Given the description of an element on the screen output the (x, y) to click on. 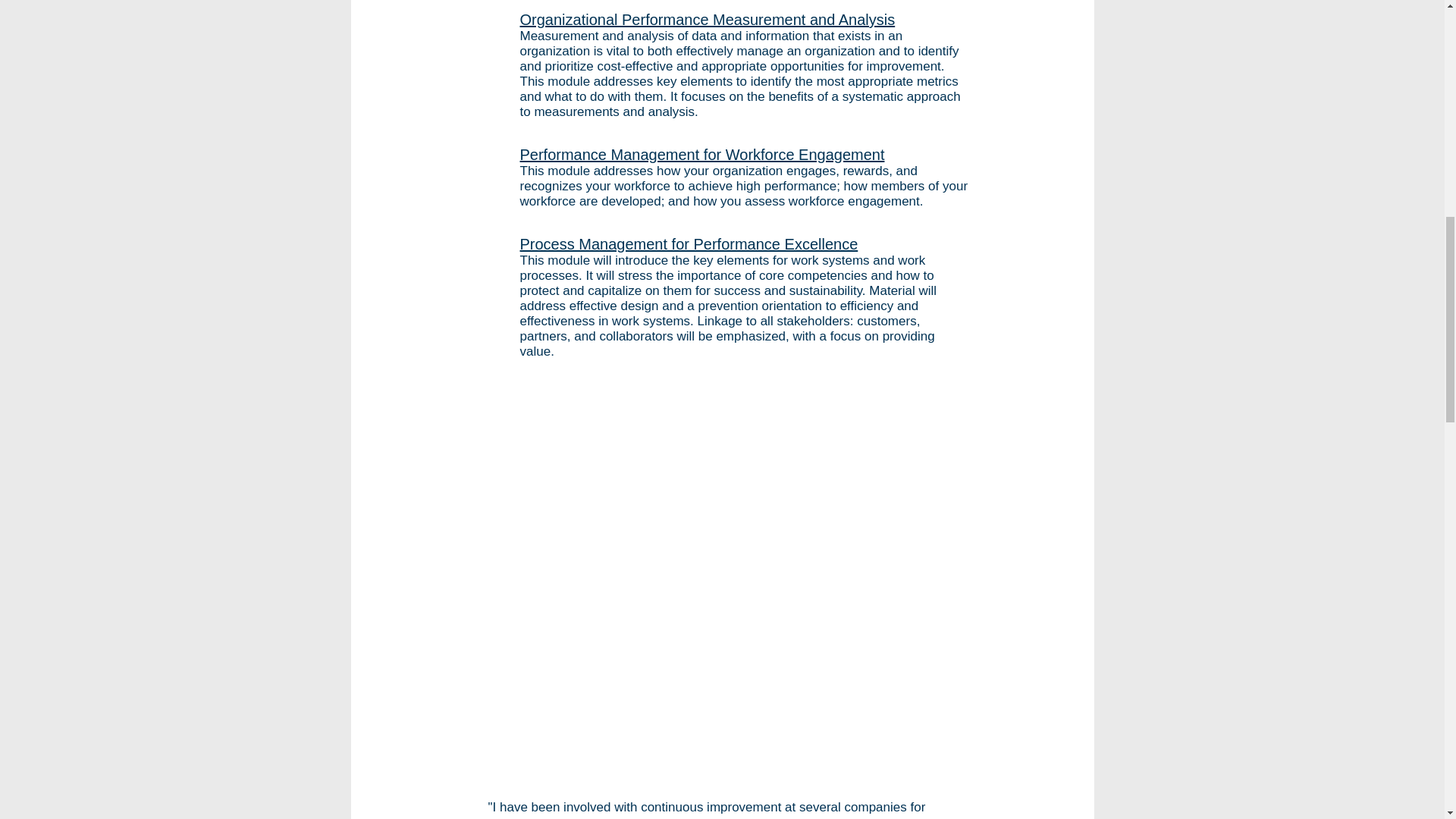
Organizational Performance Measurement and Analysis (707, 19)
Process Management for Performance Excellence (689, 243)
Performance Management for Workforce Engagement (702, 154)
